Given the description of an element on the screen output the (x, y) to click on. 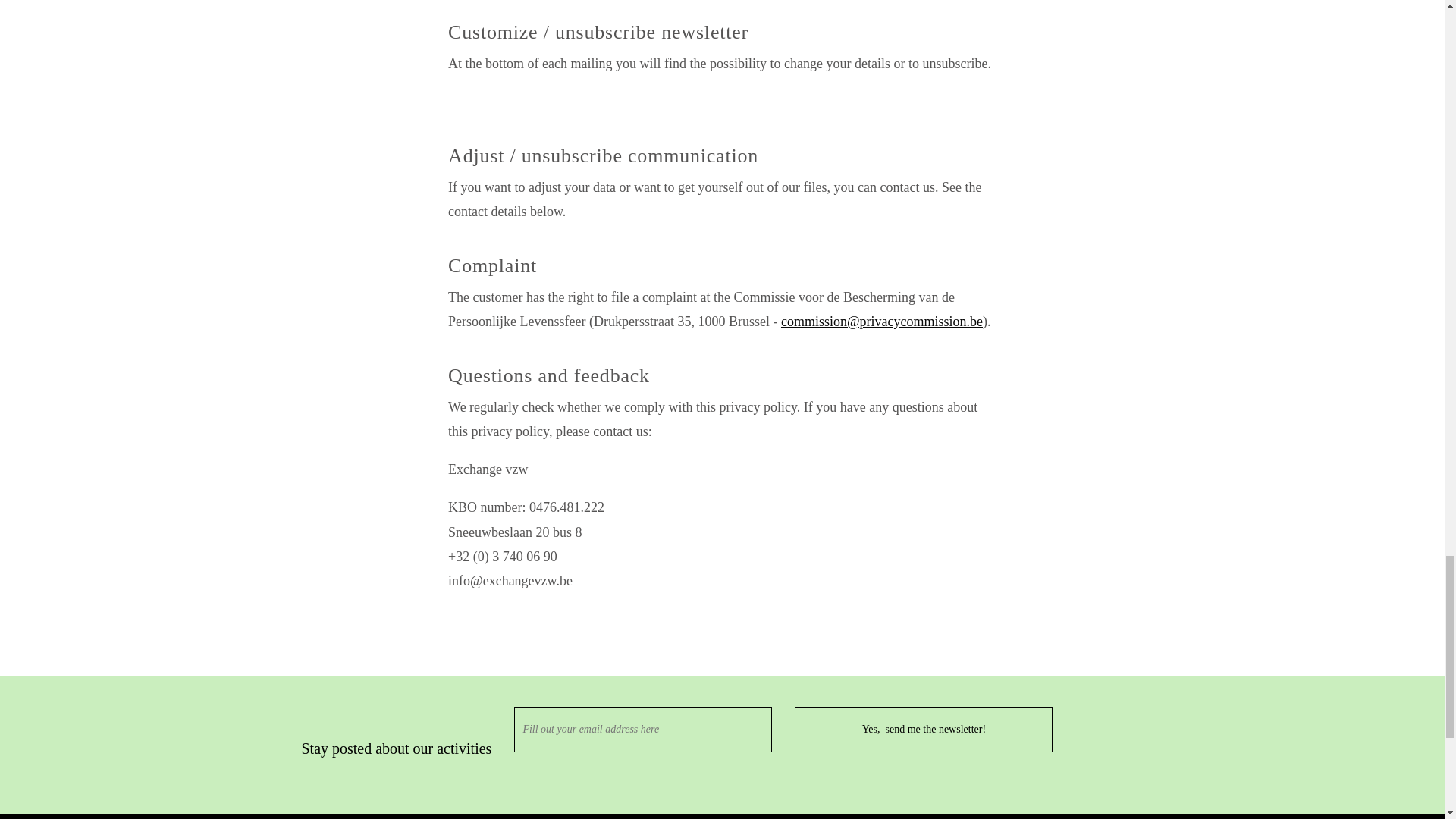
Yes,  send me the newsletter! (923, 729)
Yes,  send me the newsletter! (923, 729)
